Given the description of an element on the screen output the (x, y) to click on. 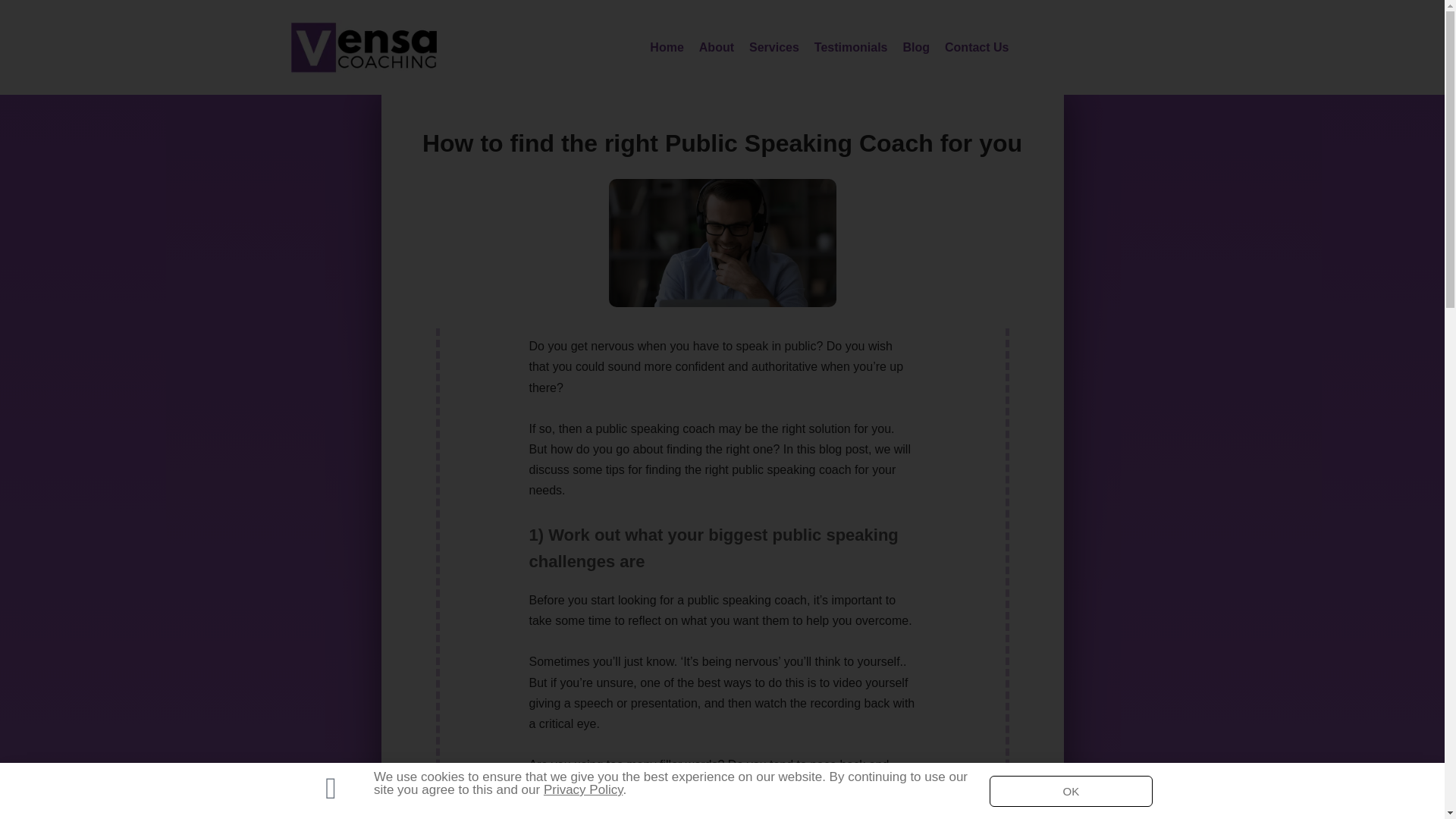
Blog (915, 47)
Testimonials (850, 47)
Home (666, 47)
Services (774, 47)
About (716, 47)
Contact Us (975, 47)
